Given the description of an element on the screen output the (x, y) to click on. 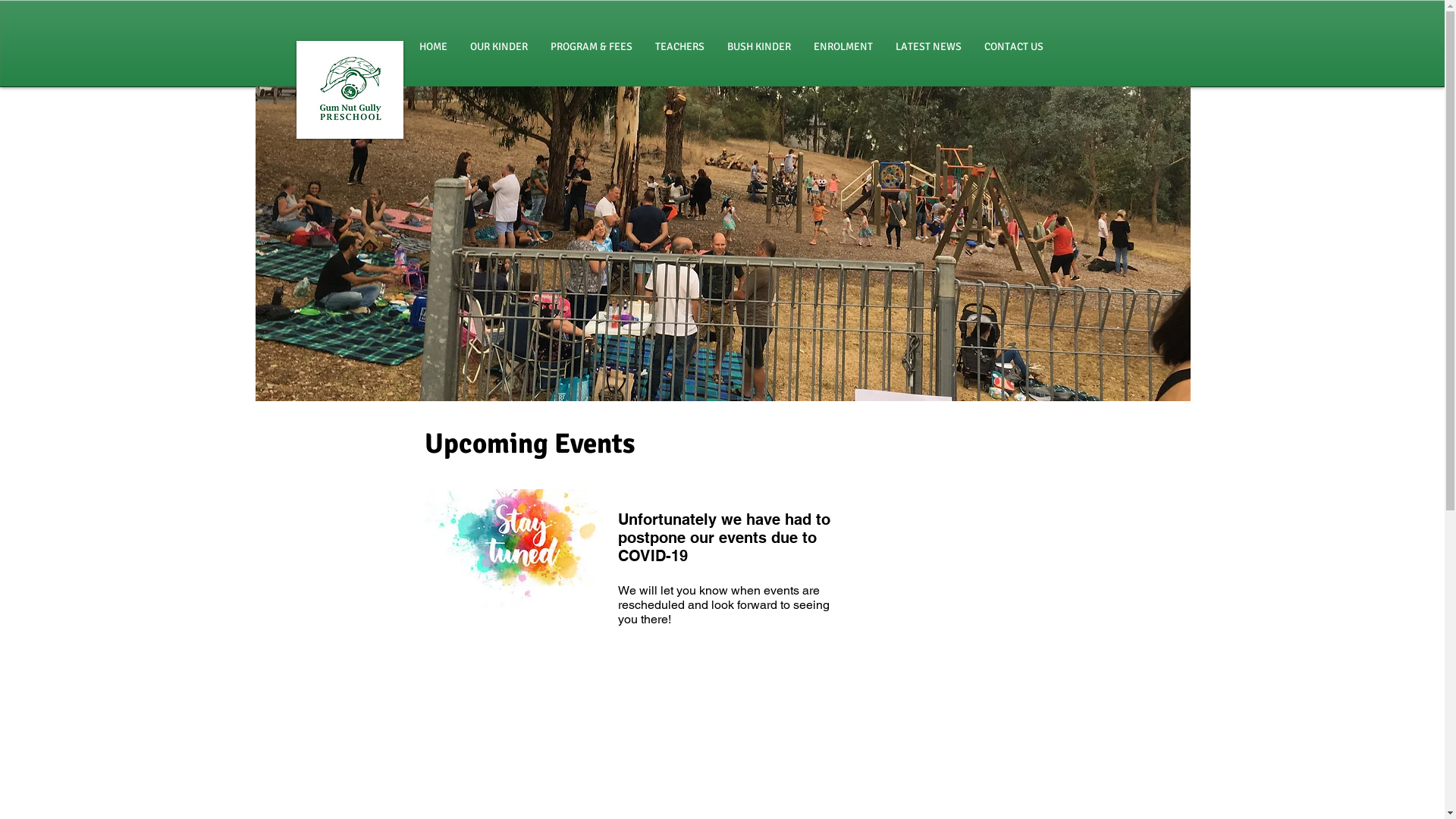
HOME Element type: text (432, 46)
Gum Nut Gully Pre-School Element type: hover (348, 89)
CONTACT US Element type: text (1013, 46)
TEACHERS Element type: text (679, 46)
